Given the description of an element on the screen output the (x, y) to click on. 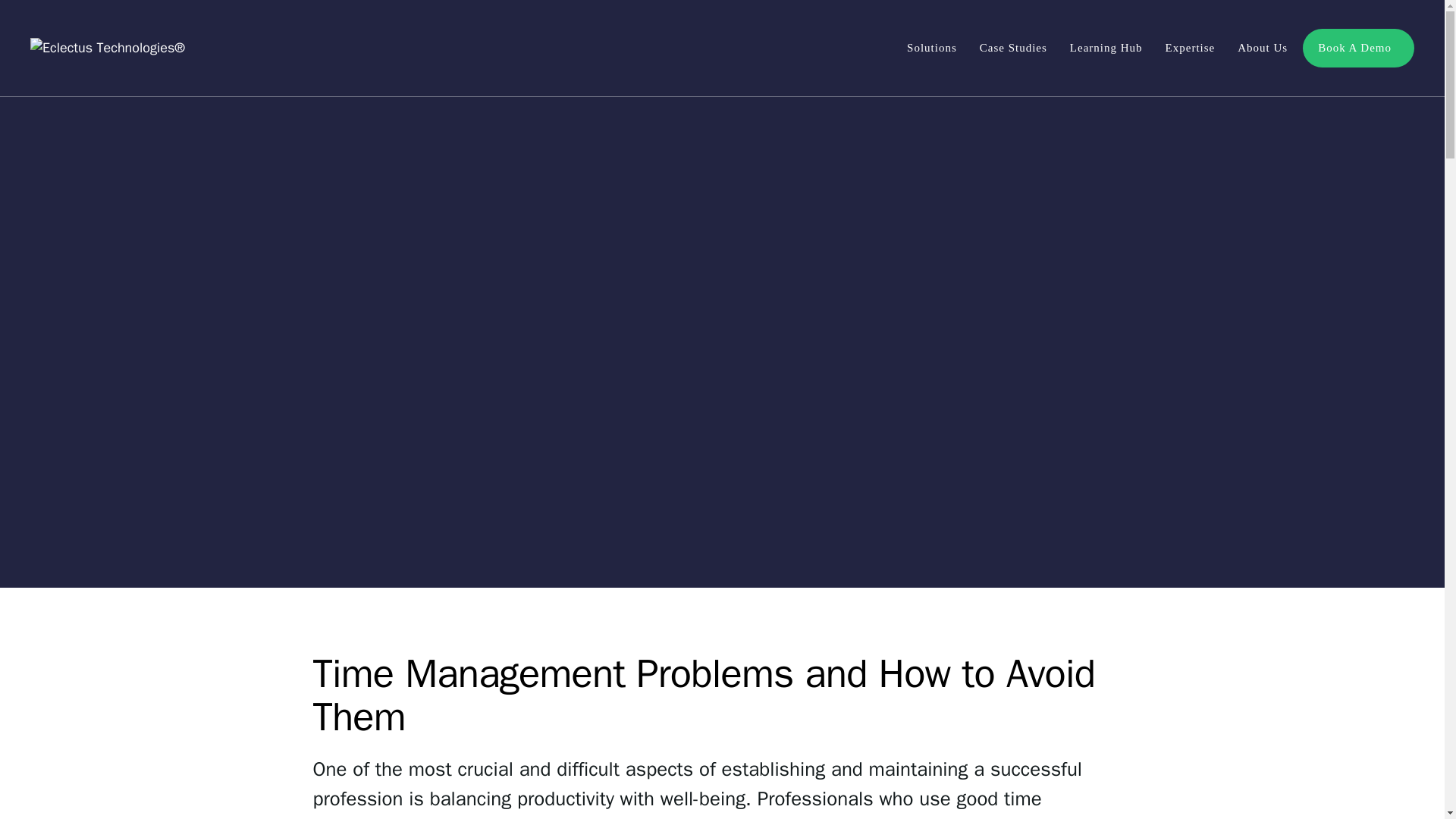
Case Studies (1017, 47)
About Us (1266, 47)
Book A Demo (1358, 47)
Learning Hub (1109, 47)
Expertise (1193, 47)
Solutions (935, 47)
